Given the description of an element on the screen output the (x, y) to click on. 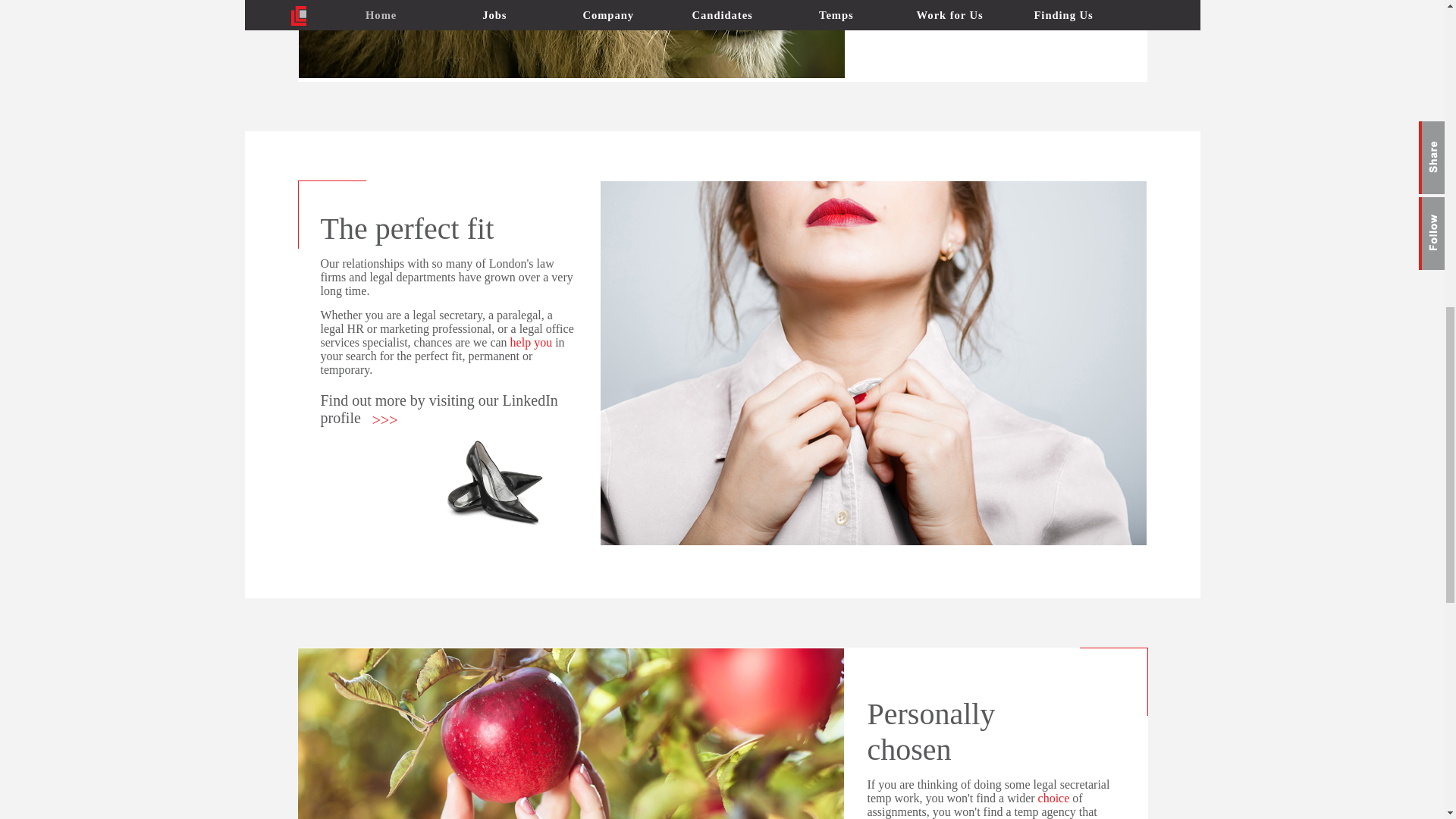
The Lions Share (571, 38)
Personally Chosen (570, 733)
Find out more by visiting our LinkedIn profile (438, 408)
